Given the description of an element on the screen output the (x, y) to click on. 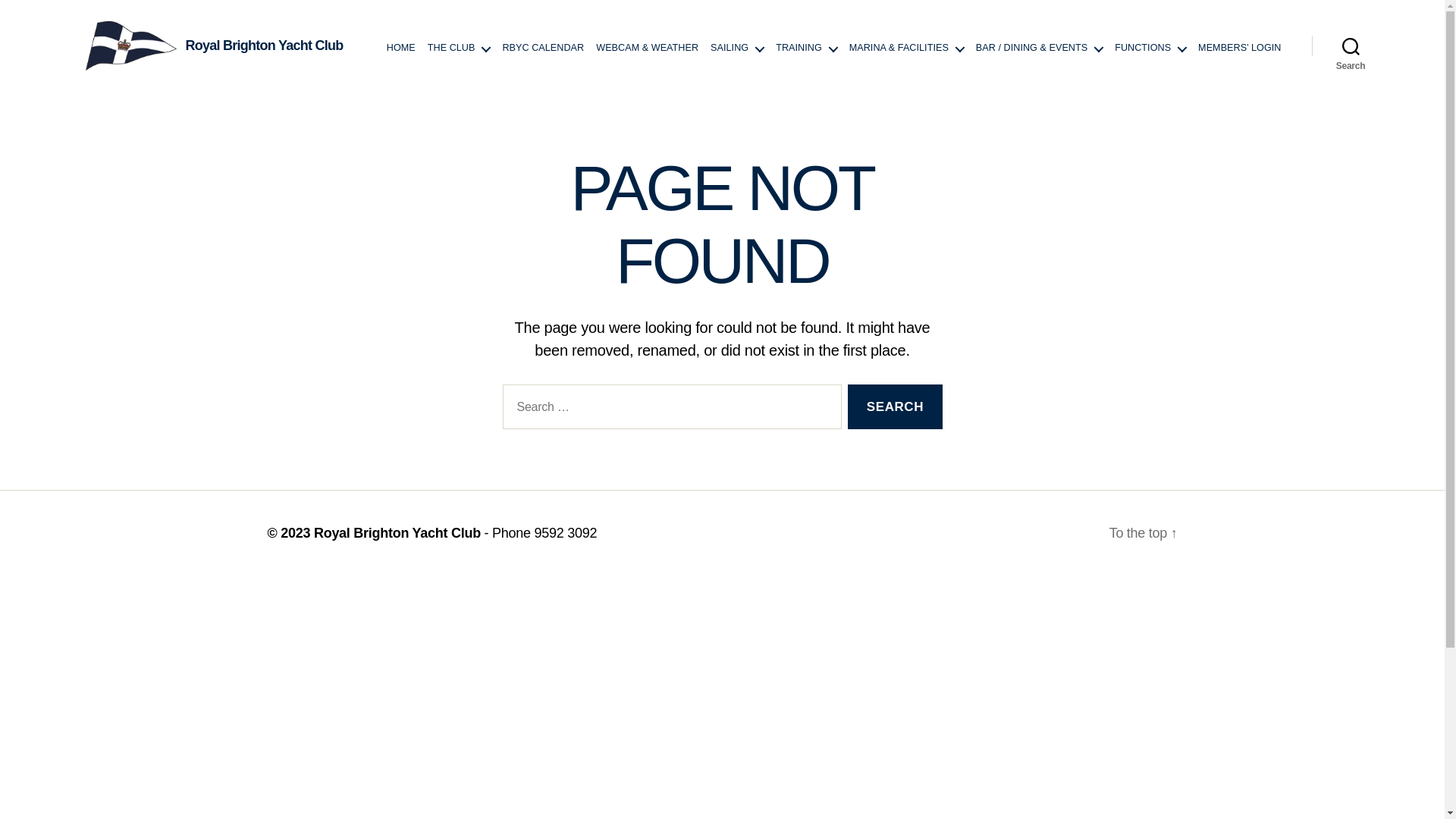
BAR / DINING & EVENTS Element type: text (1038, 47)
Search Element type: text (1350, 45)
Search Element type: text (894, 406)
MARINA & FACILITIES Element type: text (906, 47)
RBYC CALENDAR Element type: text (542, 47)
HOME Element type: text (400, 47)
THE CLUB Element type: text (458, 47)
FUNCTIONS Element type: text (1150, 47)
Royal Brighton Yacht Club Element type: text (396, 532)
WEBCAM & WEATHER Element type: text (647, 47)
SAILING Element type: text (736, 47)
TRAINING Element type: text (806, 47)
